Given the description of an element on the screen output the (x, y) to click on. 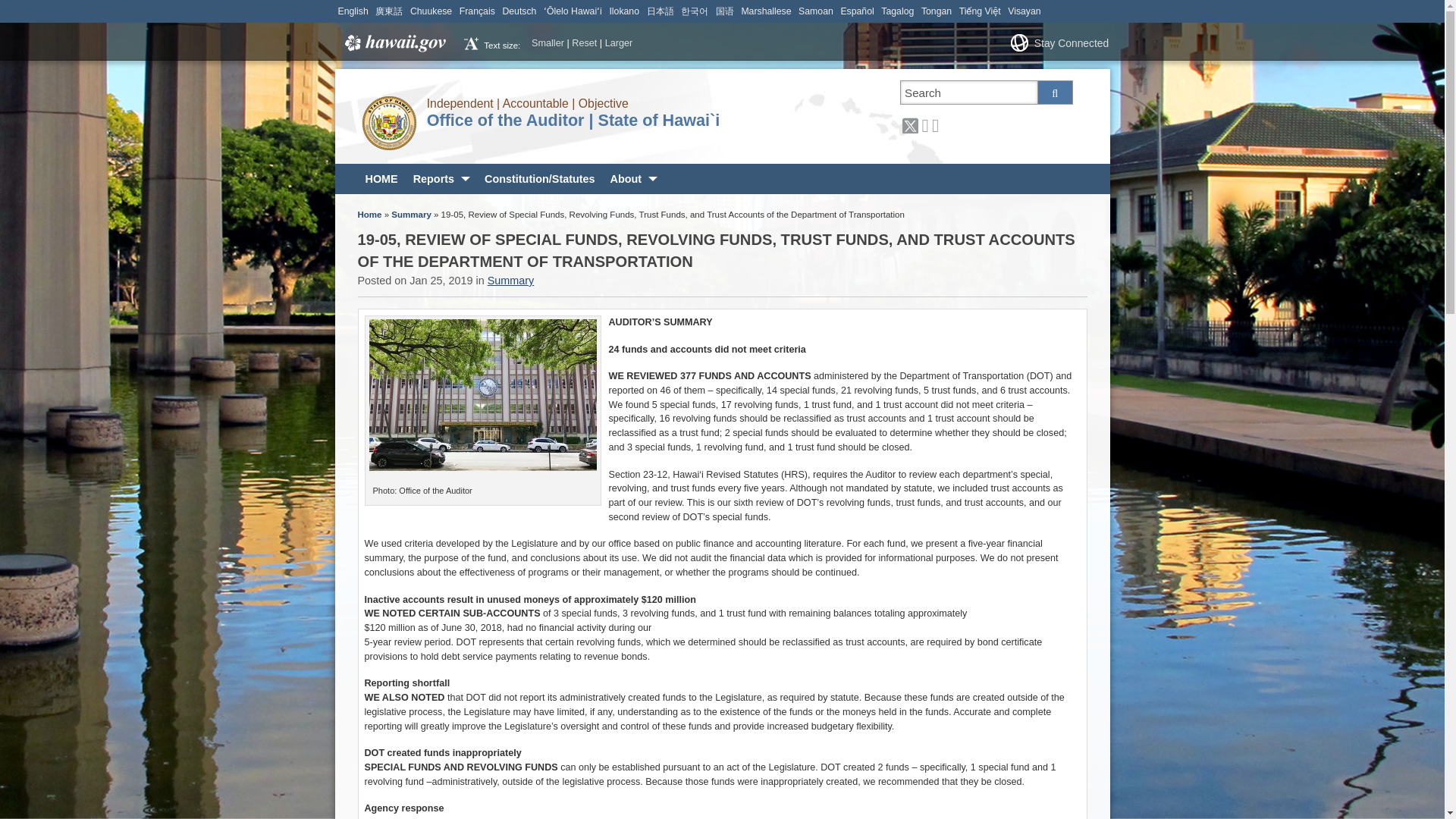
English (352, 11)
Reports (441, 178)
Visayan (1023, 11)
Tagalog (897, 11)
Marshallese (765, 11)
HOME (382, 178)
Tongan (936, 11)
Ilokano (623, 11)
Samoan (814, 11)
Smaller (547, 42)
Reset (584, 42)
Deutsch (518, 11)
Chuukese (430, 11)
Link to Stay Connected (1069, 42)
Stay Connected (1069, 42)
